Given the description of an element on the screen output the (x, y) to click on. 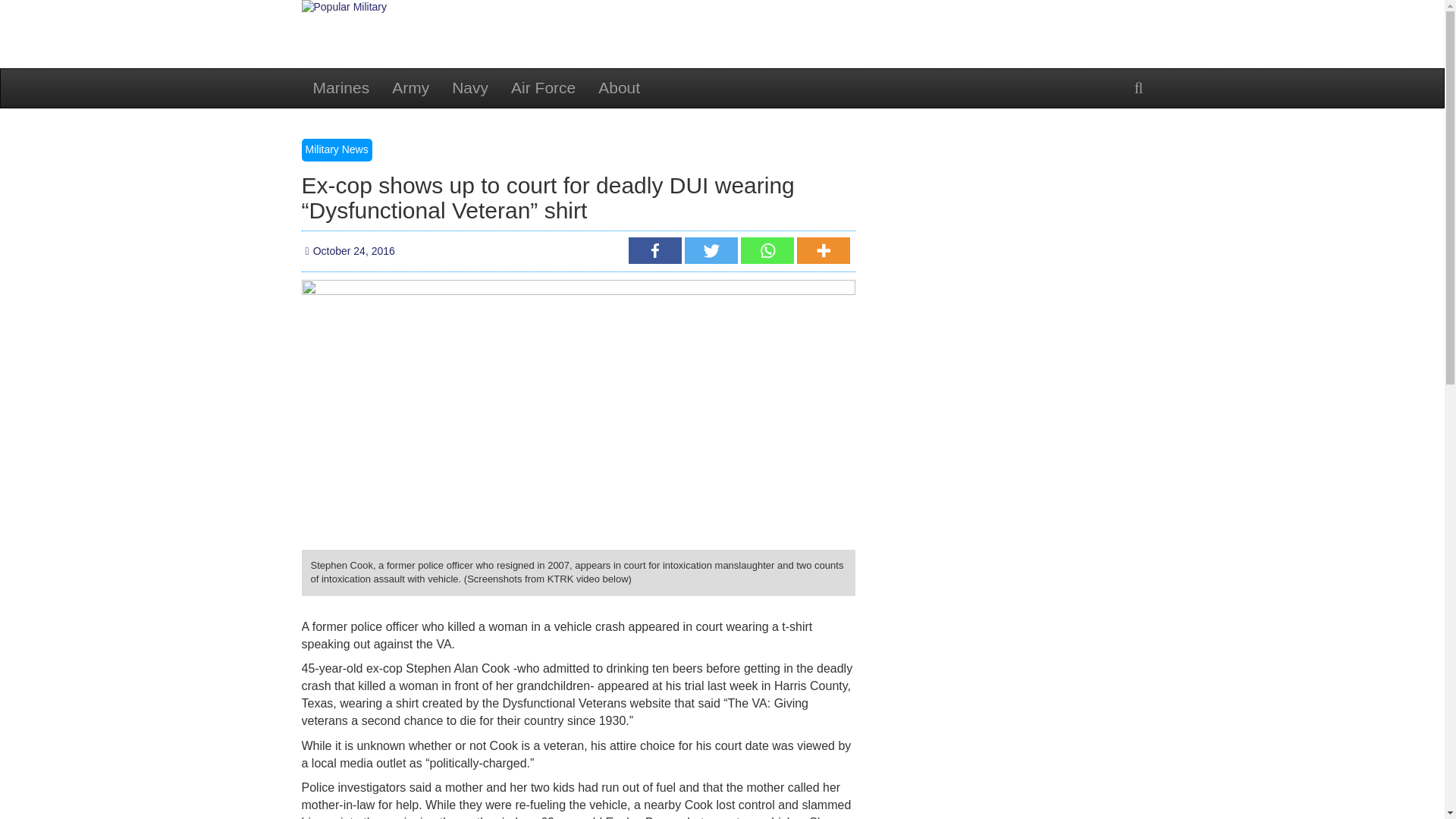
Twitter (710, 250)
Navy (470, 87)
Army (410, 87)
About (618, 87)
Military News (336, 149)
Army (410, 87)
Marines (341, 87)
Air Force (542, 87)
Marines (341, 87)
More (822, 250)
